Given the description of an element on the screen output the (x, y) to click on. 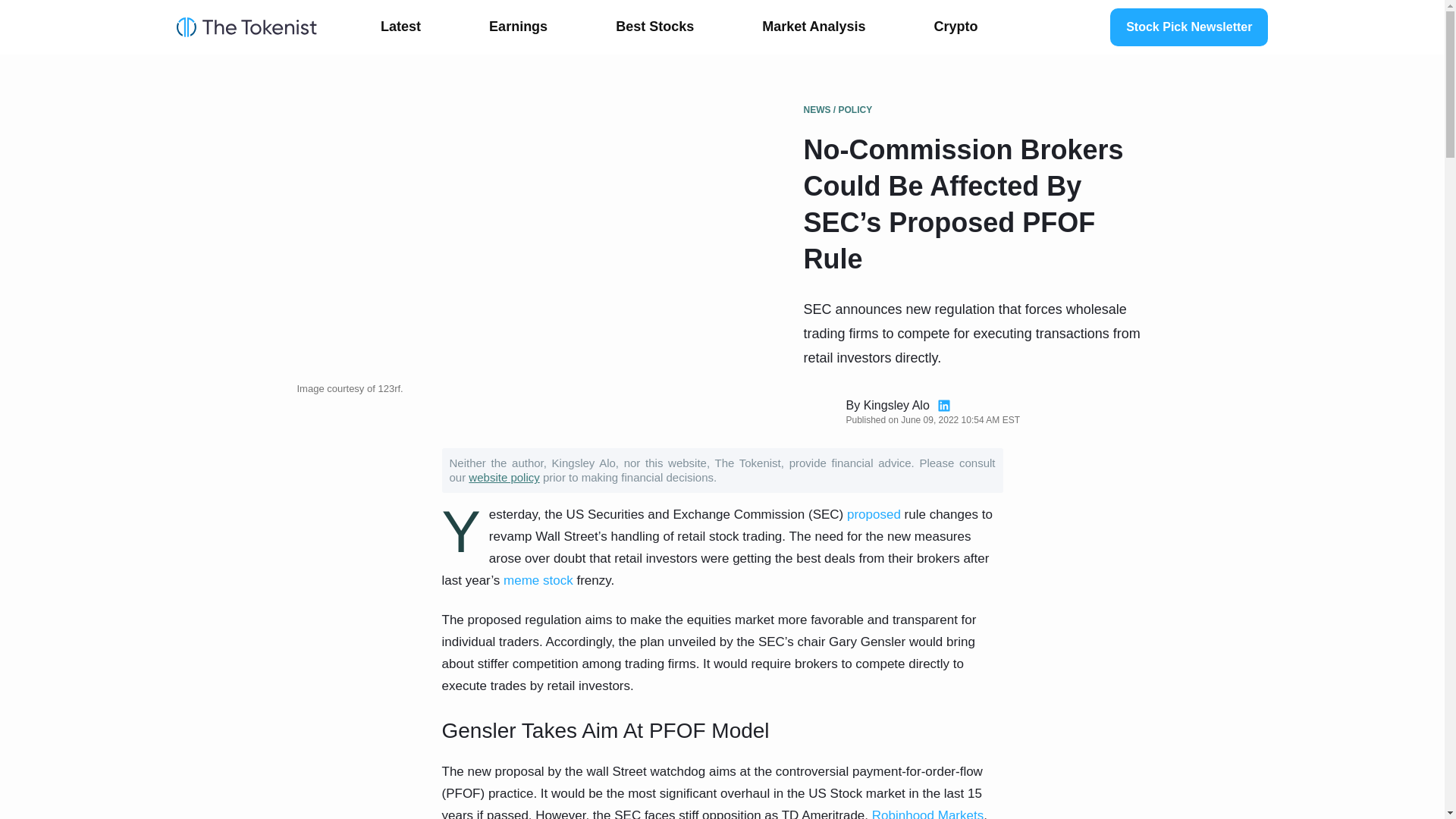
NEWS (817, 109)
Market Analysis (813, 27)
Stock Pick Newsletter (1188, 26)
POLICY (855, 109)
meme stock (535, 580)
Crypto (955, 27)
proposed (875, 513)
Kingsley Alo (896, 404)
Best Stocks (654, 27)
website policy (503, 477)
